Given the description of an element on the screen output the (x, y) to click on. 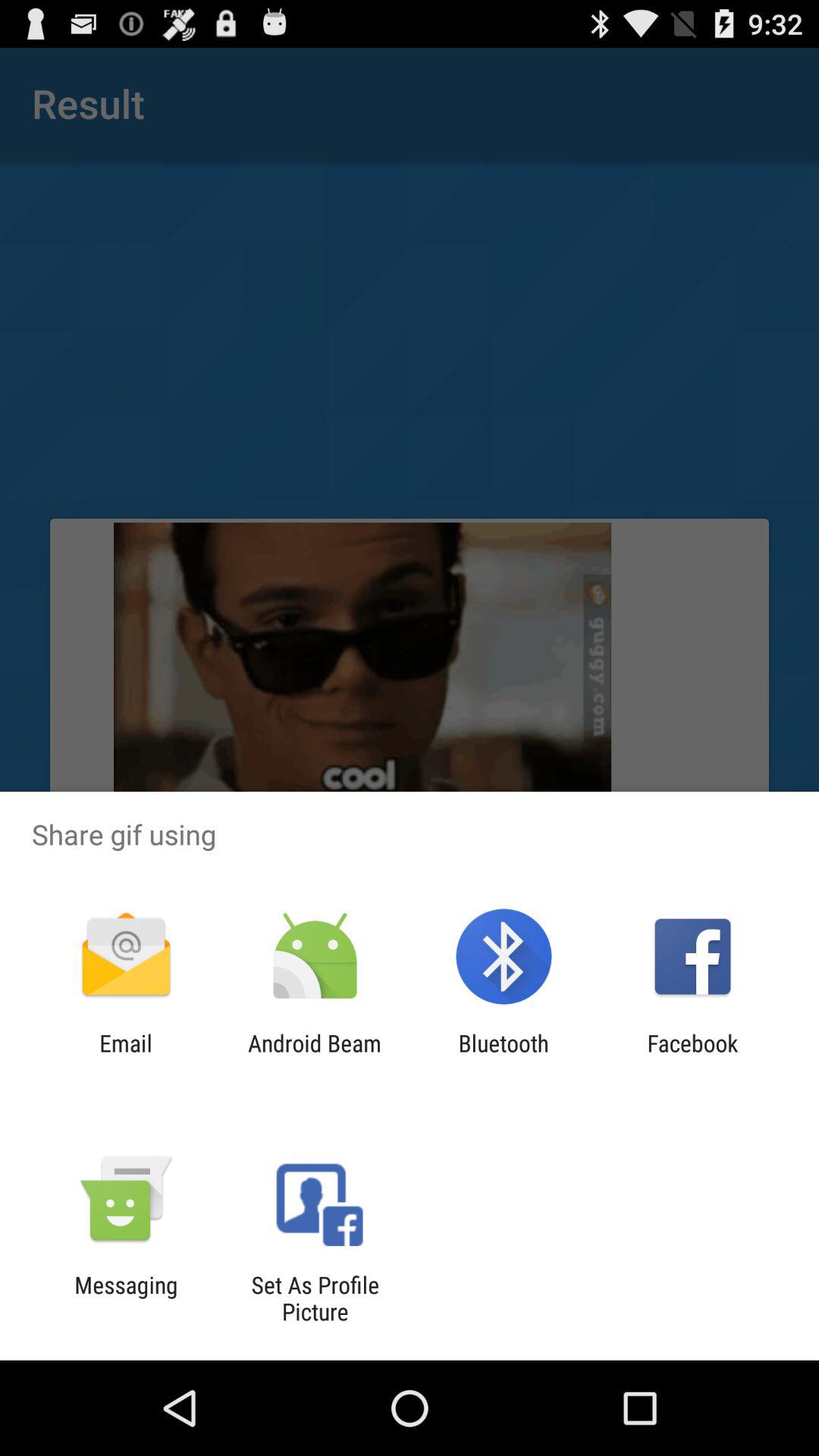
turn off icon next to set as profile icon (126, 1298)
